Given the description of an element on the screen output the (x, y) to click on. 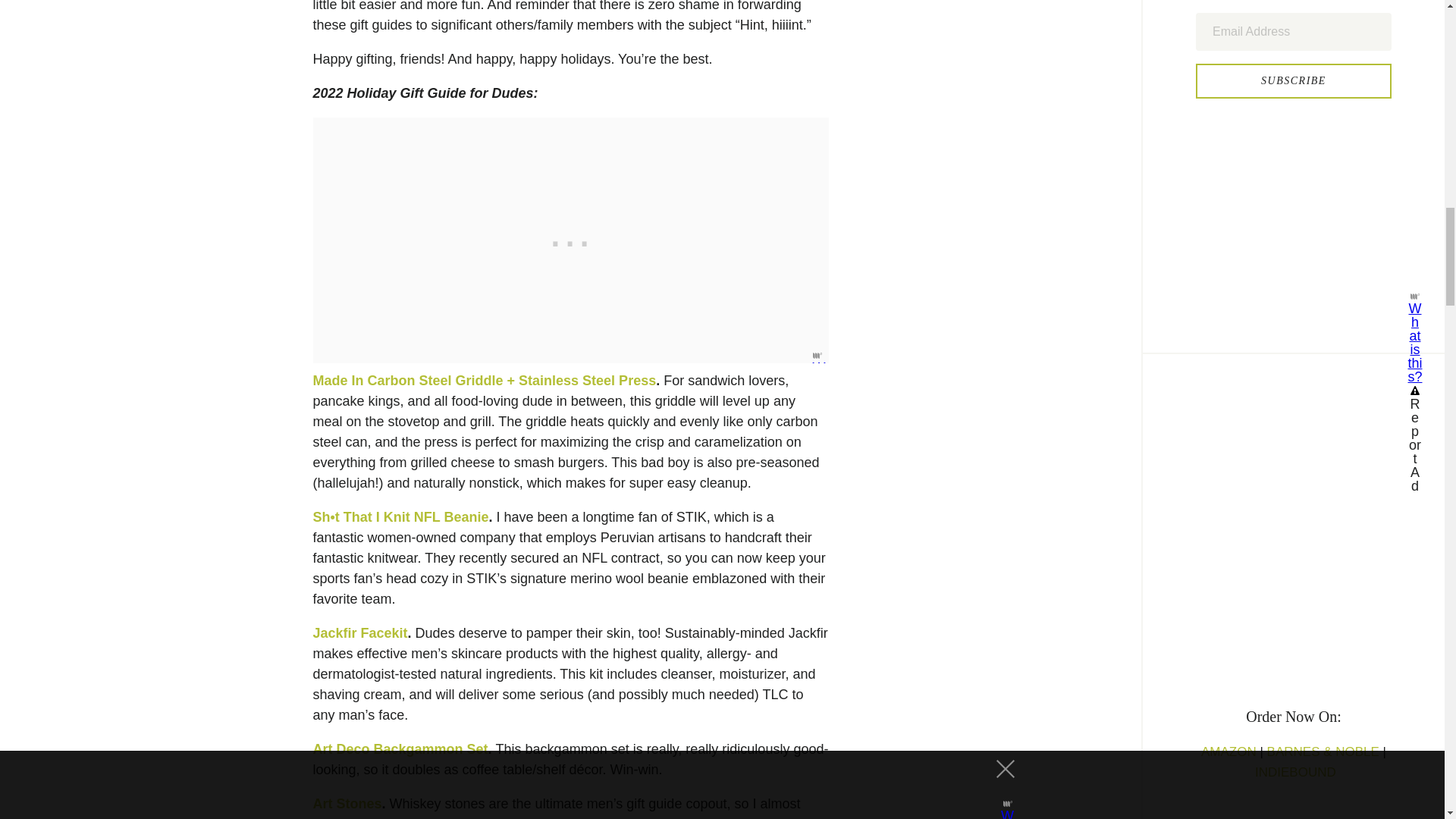
3rd party ad content (570, 239)
Jackfir Facekit (360, 632)
Art Stones (347, 803)
Art Deco Backgammon Set (400, 749)
3rd party ad content (1309, 193)
